Given the description of an element on the screen output the (x, y) to click on. 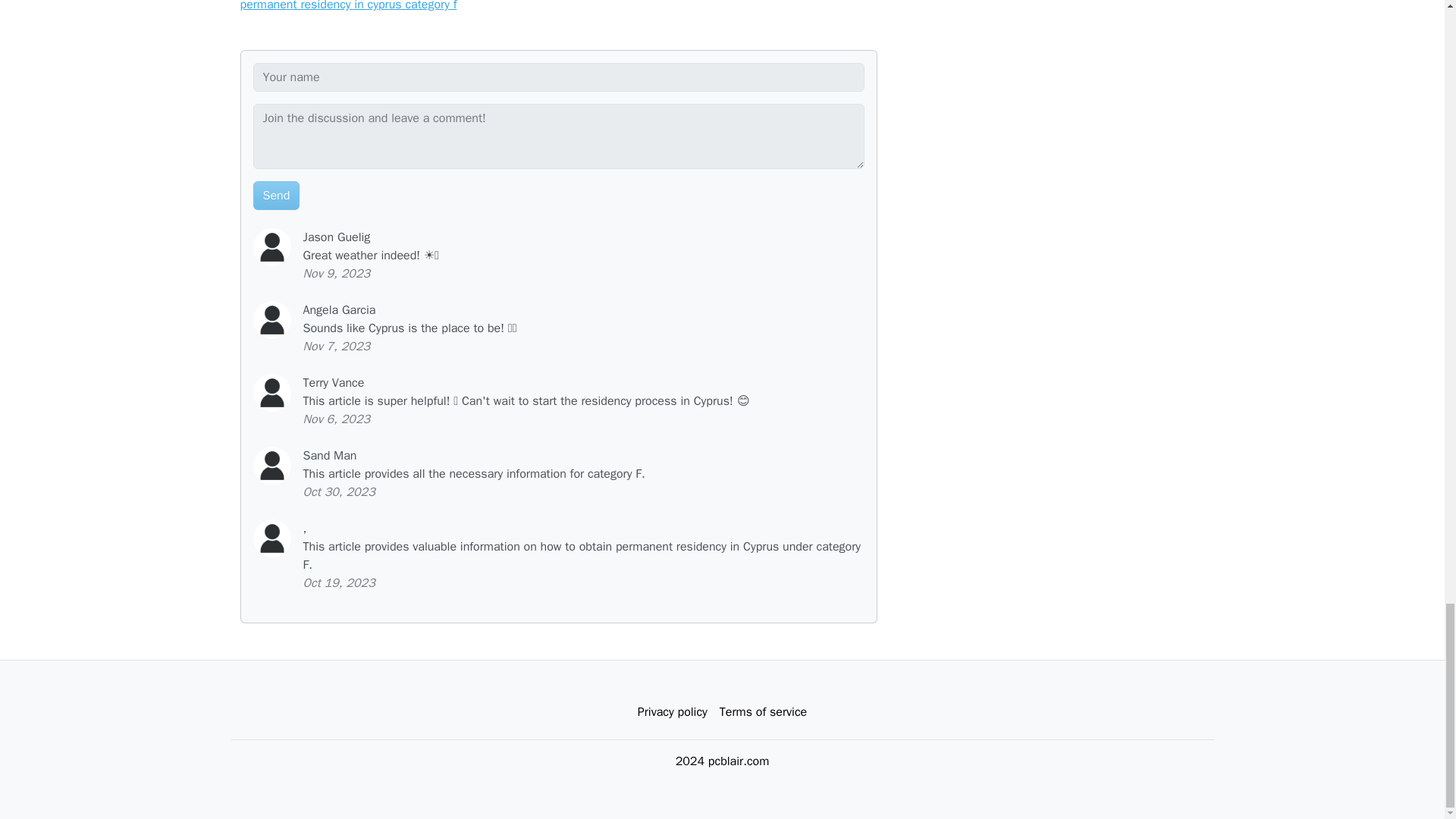
Terms of service (762, 711)
Privacy policy (672, 711)
Send (276, 194)
Send (276, 194)
permanent residency in cyprus category f (348, 6)
